Given the description of an element on the screen output the (x, y) to click on. 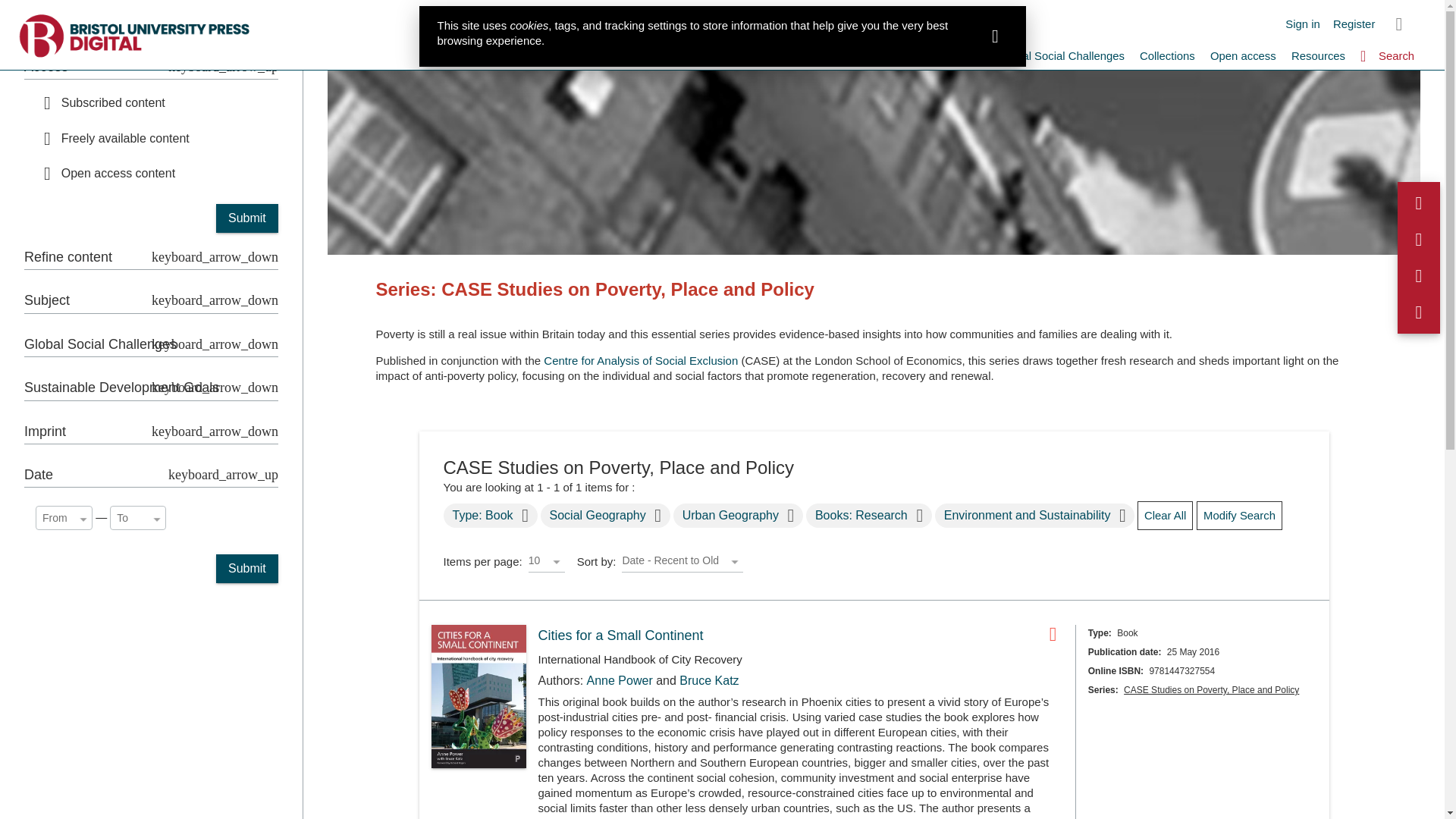
Jump to Content (42, 8)
Dismiss this warning (994, 36)
